Given the description of an element on the screen output the (x, y) to click on. 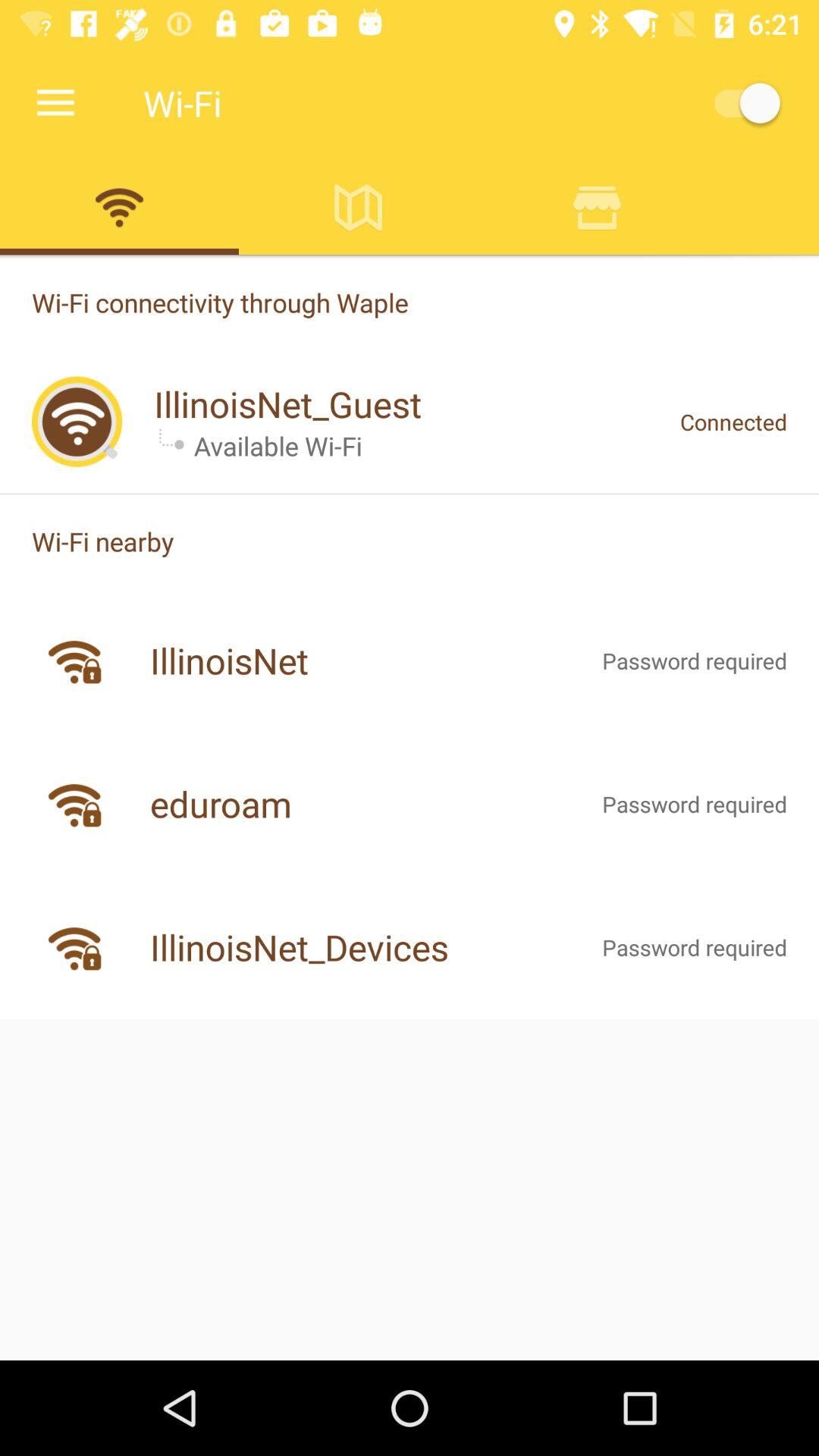
go to store (596, 206)
